Given the description of an element on the screen output the (x, y) to click on. 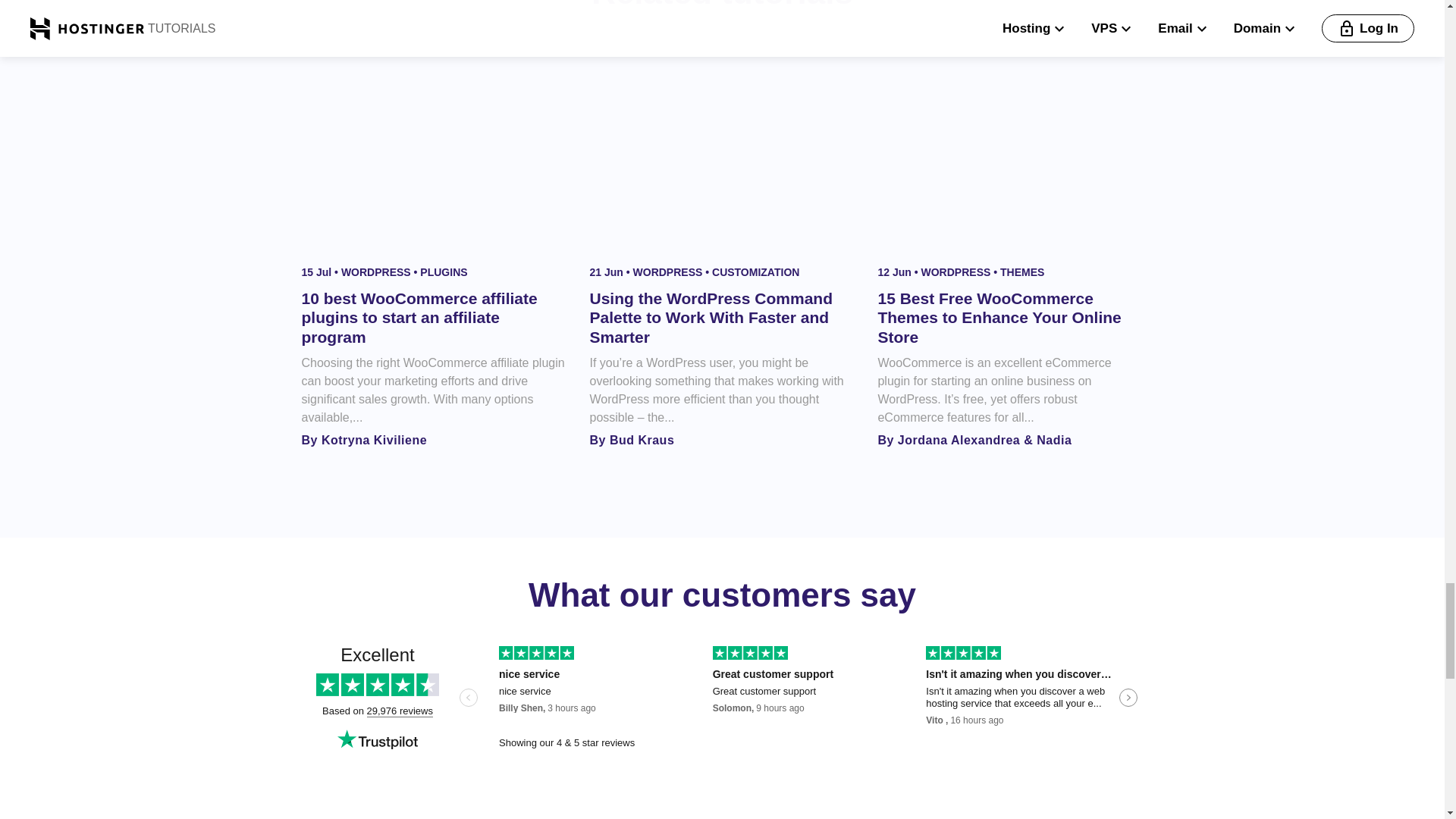
WORDPRESS (376, 272)
Customer reviews powered by Trustpilot (721, 699)
By Kotryna Kiviliene (364, 440)
PLUGINS (443, 272)
